Given the description of an element on the screen output the (x, y) to click on. 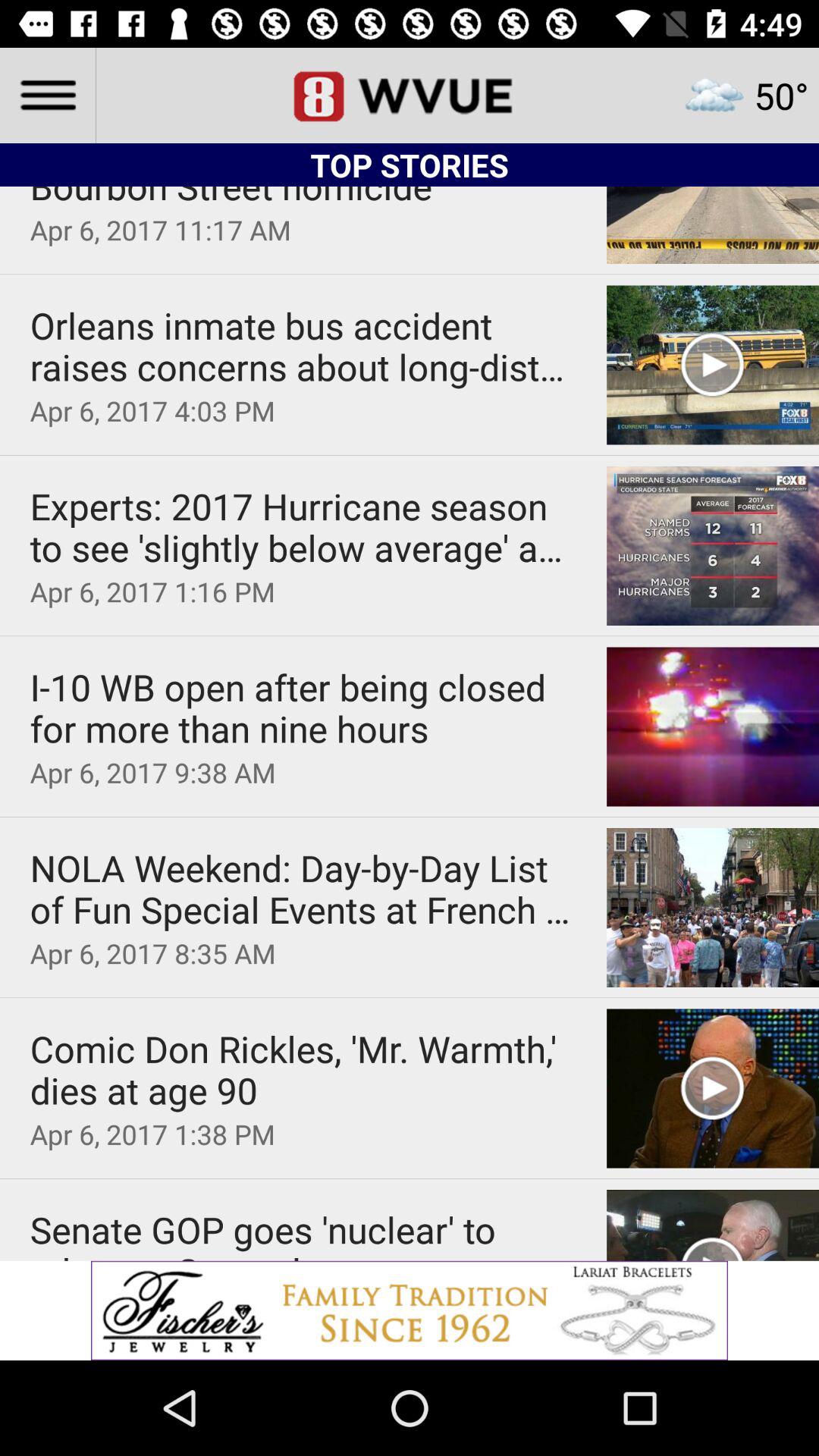
play button on second option image (712, 365)
